Given the description of an element on the screen output the (x, y) to click on. 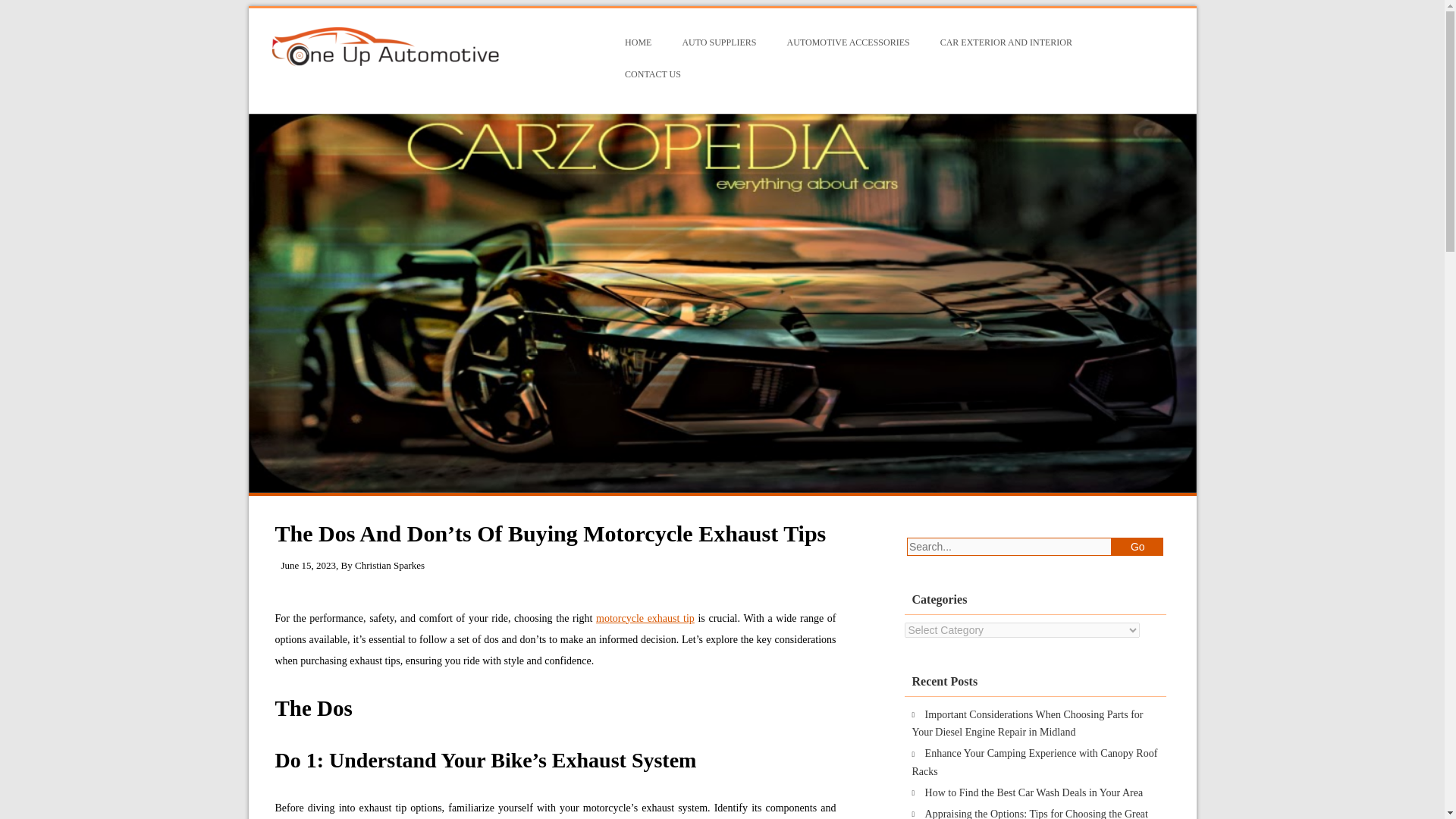
How to Find the Best Car Wash Deals in Your Area (1033, 792)
AUTOMOTIVE ACCESSORIES (847, 42)
motorcycle exhaust tip (644, 618)
Go (1137, 546)
HOME (638, 42)
Enhance Your Camping Experience with Canopy Roof Racks (1034, 762)
CONTACT US (652, 74)
Go (1137, 546)
AUTO SUPPLIERS (718, 42)
CAR EXTERIOR AND INTERIOR (1005, 42)
